Given the description of an element on the screen output the (x, y) to click on. 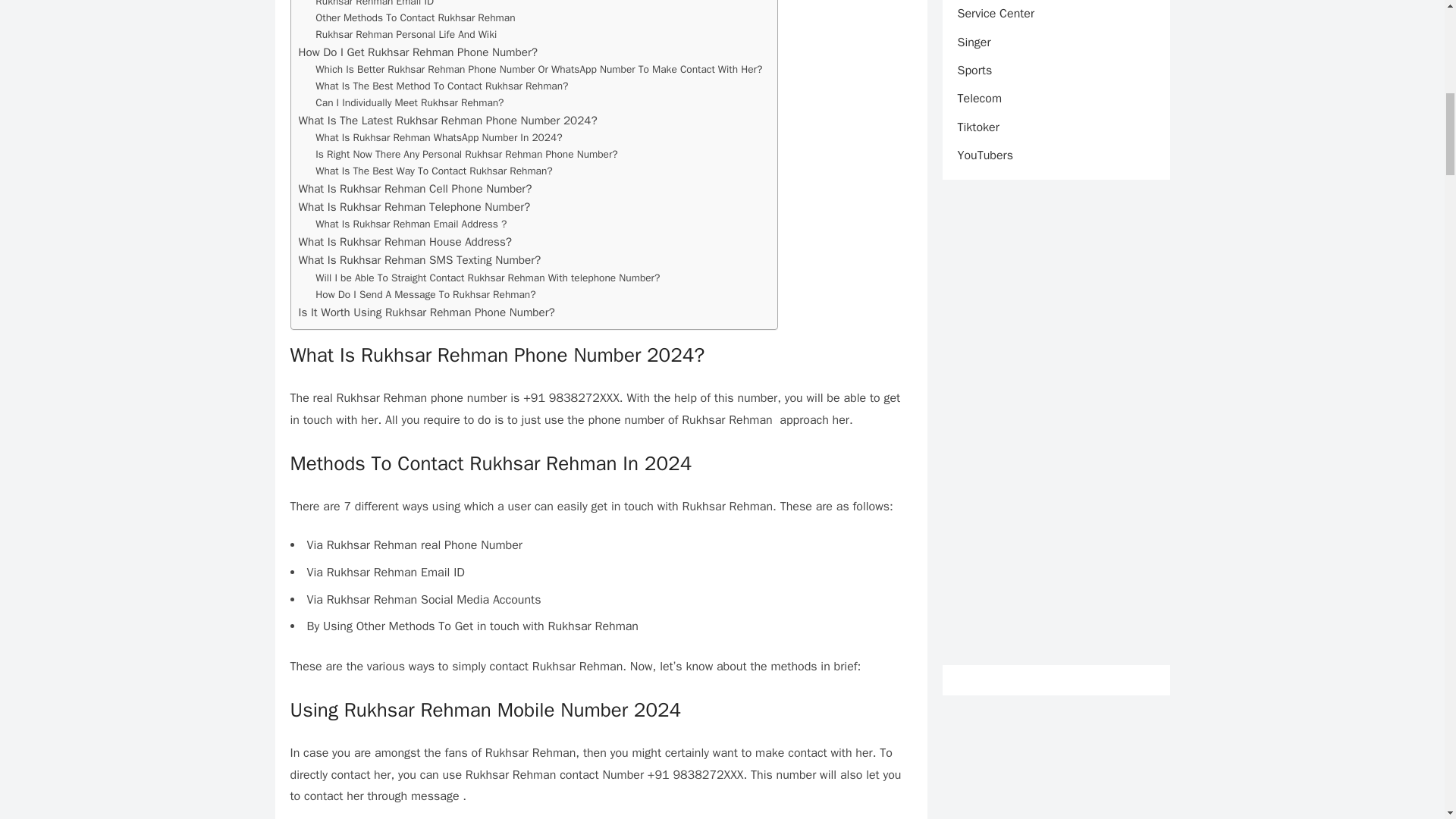
Can I Individually Meet Rukhsar Rehman? (409, 103)
Rukhsar Rehman Email ID (374, 4)
Is Right Now There Any Personal Rukhsar Rehman Phone Number? (466, 154)
What Is Rukhsar Rehman Cell Phone Number? (415, 188)
Other Methods To Contact Rukhsar Rehman (415, 17)
Rukhsar Rehman Personal Life And Wiki (405, 34)
Other Methods  To Contact Rukhsar Rehman (415, 17)
What Is The Best Method To Contact Rukhsar Rehman? (441, 86)
